Given the description of an element on the screen output the (x, y) to click on. 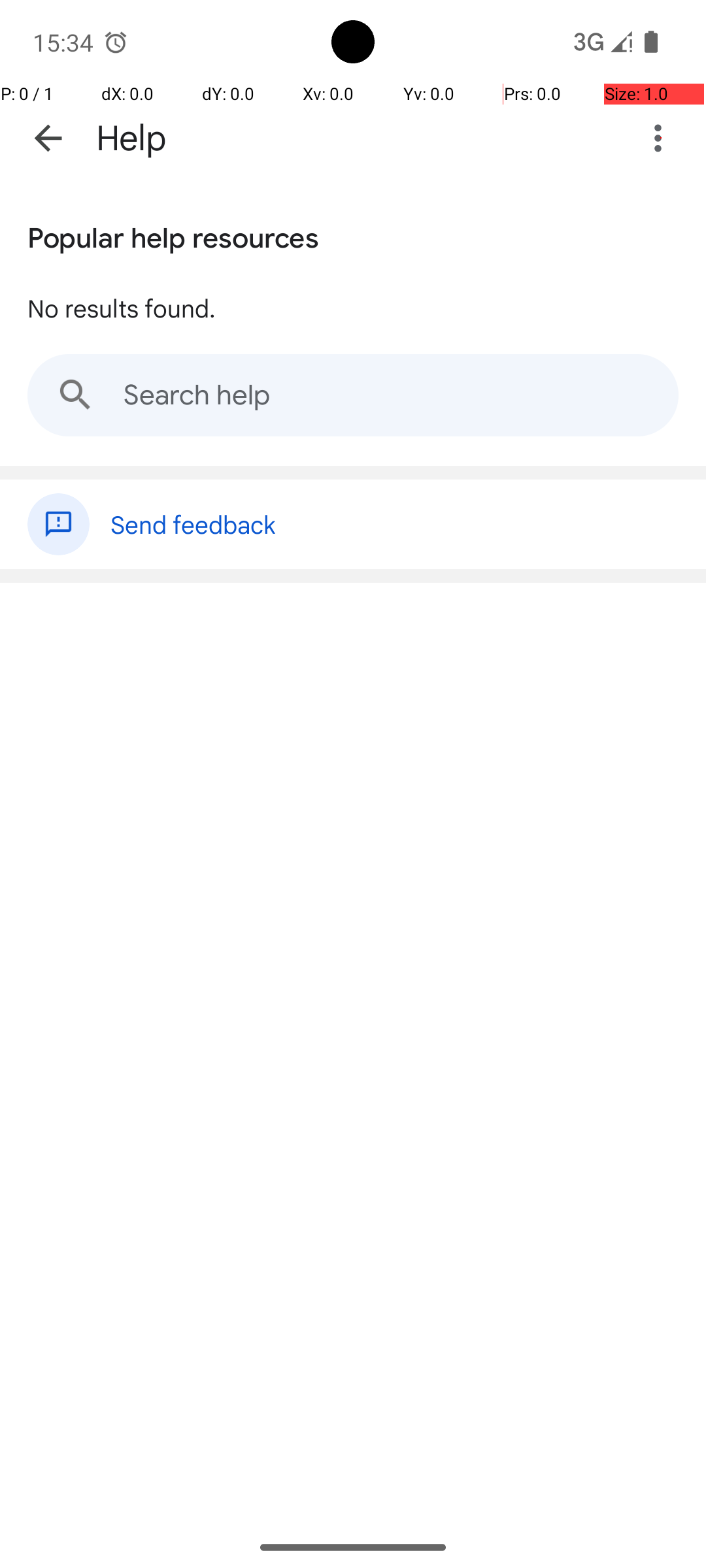
Popular help resources Element type: android.widget.TextView (173, 235)
Search help Element type: androidx.cardview.widget.CardView (352, 395)
No results found. Element type: android.widget.TextView (121, 307)
